Given the description of an element on the screen output the (x, y) to click on. 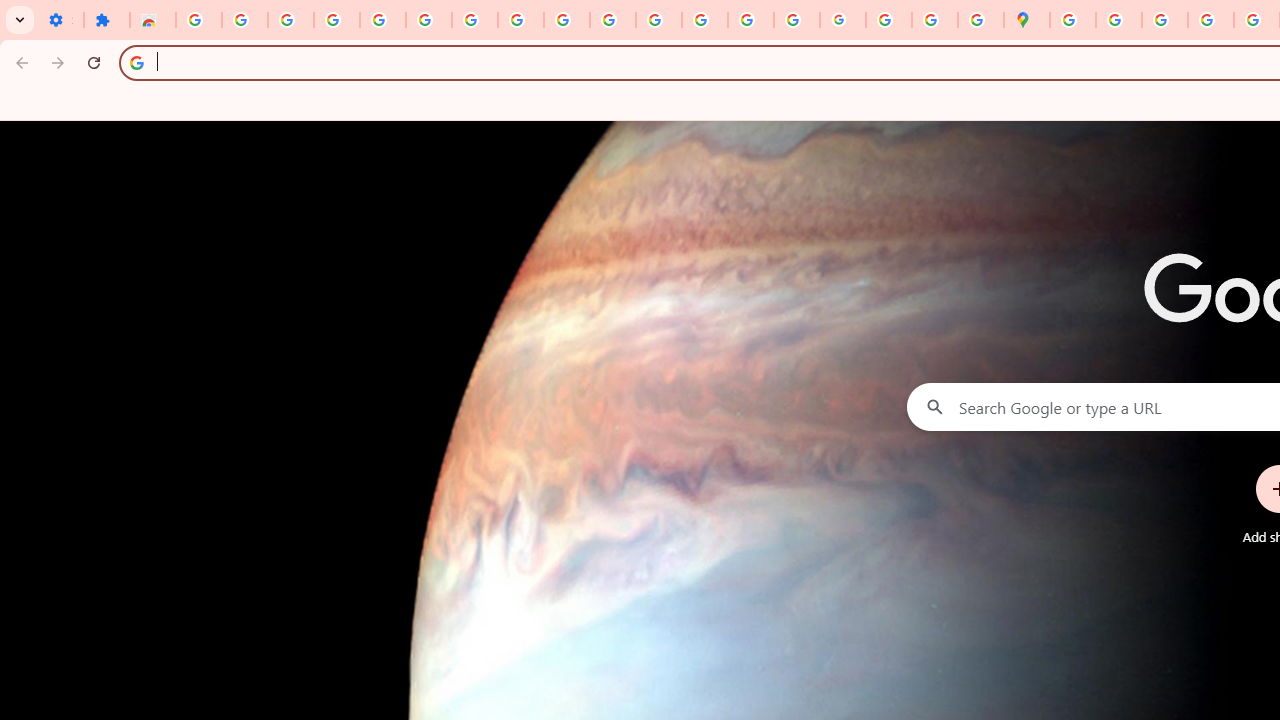
Create your Google Account (1164, 20)
Google Account (520, 20)
YouTube (567, 20)
